Given the description of an element on the screen output the (x, y) to click on. 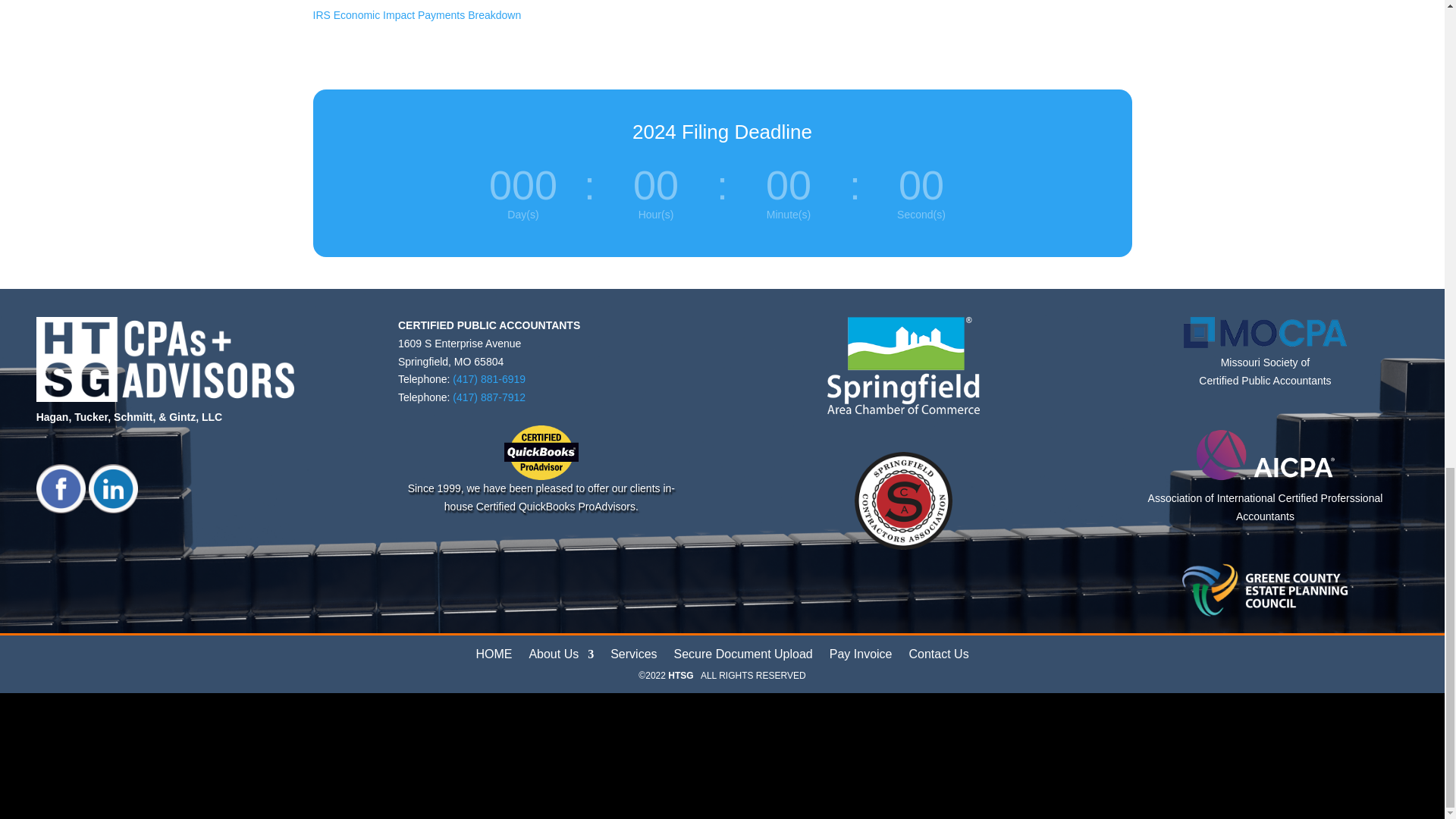
WHITE-LOGO (165, 359)
